Given the description of an element on the screen output the (x, y) to click on. 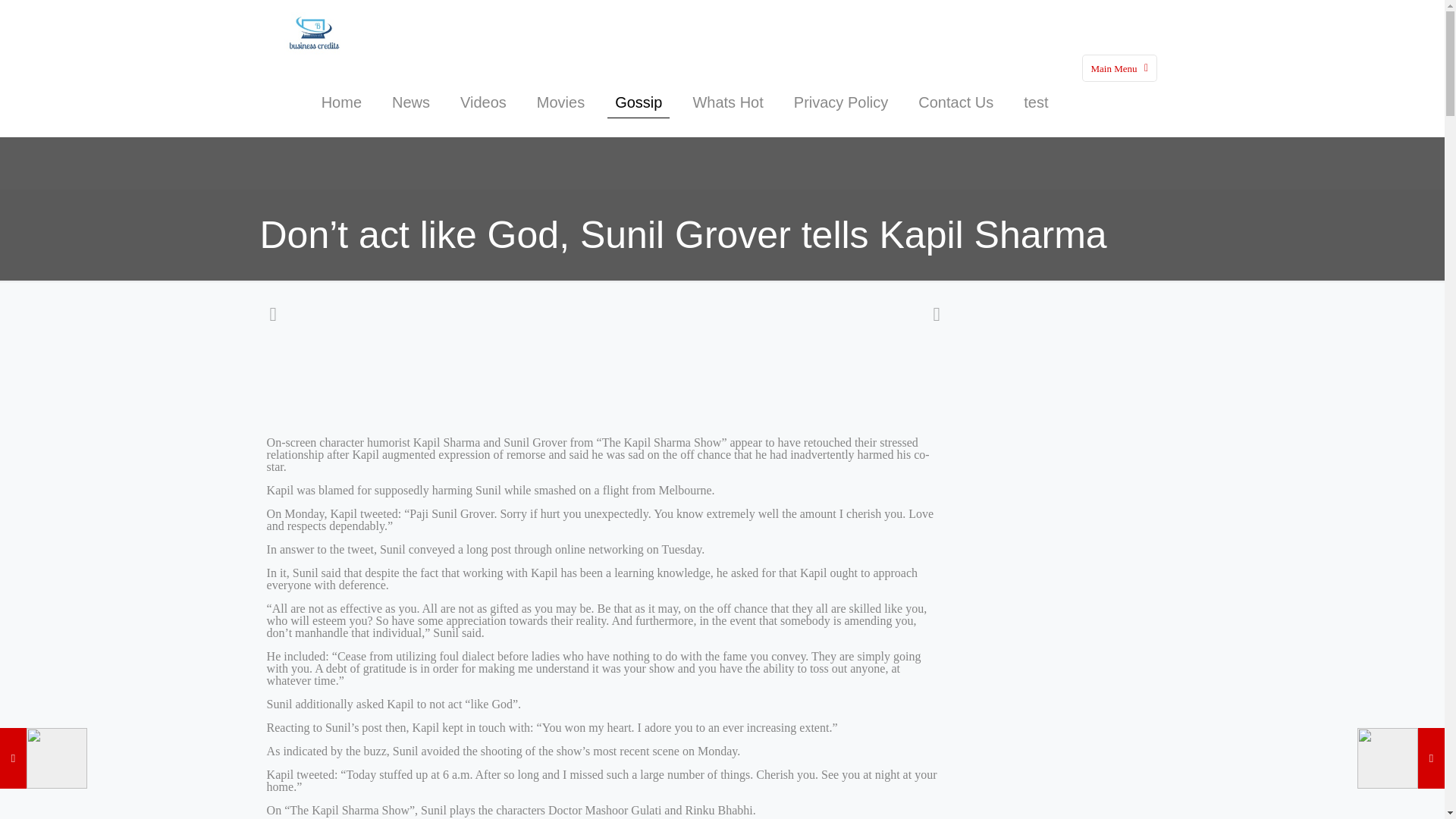
Main Menu (1118, 67)
Home (341, 101)
News (411, 101)
Privacy Policy (840, 101)
Television News (312, 33)
test (1035, 101)
Whats Hot (727, 101)
Movies (560, 101)
Gossip (638, 101)
Contact Us (955, 101)
Videos (483, 101)
